Given the description of an element on the screen output the (x, y) to click on. 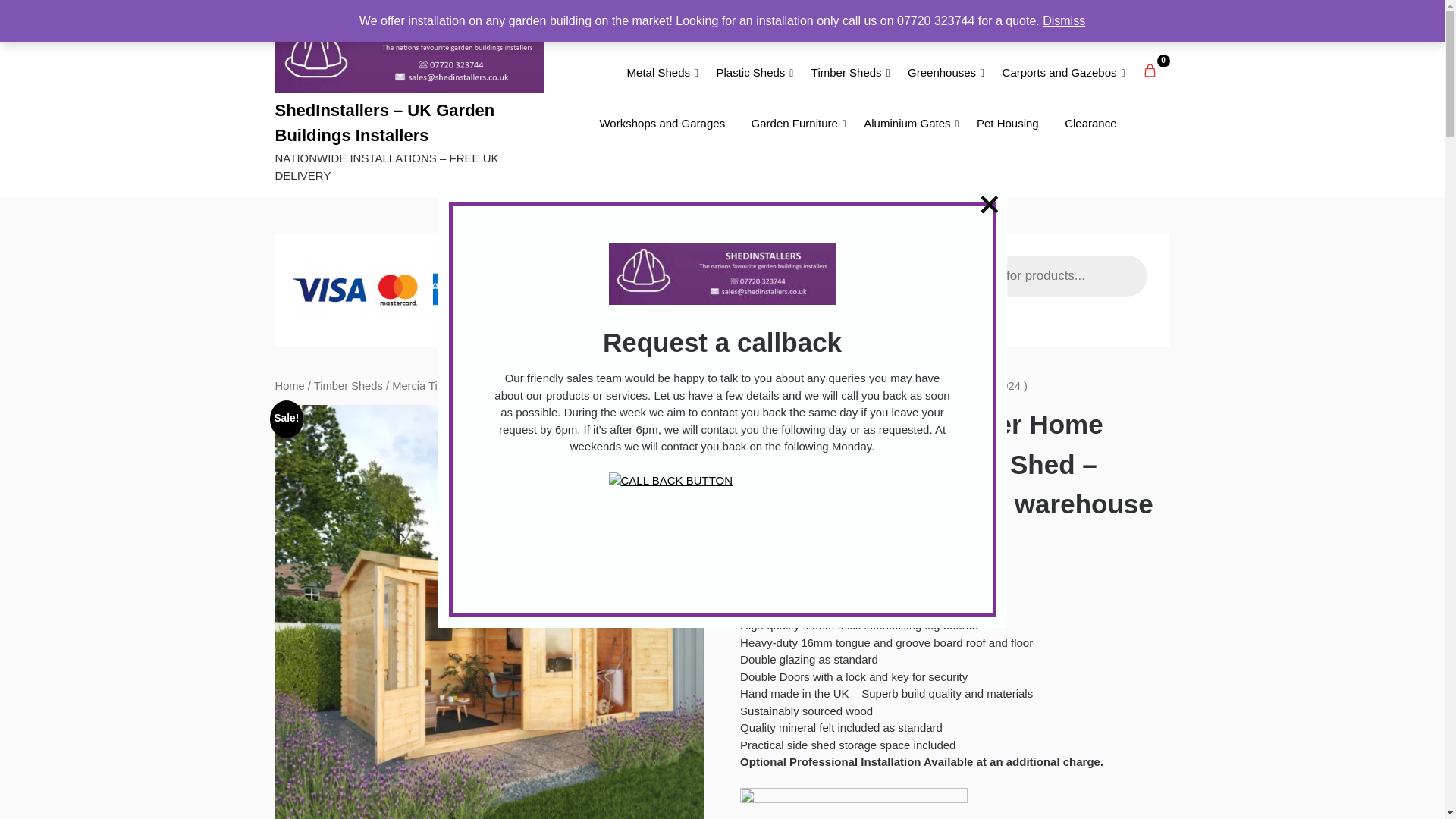
Timber Sheds (846, 73)
Plastic Sheds (750, 73)
Metal Sheds (658, 73)
